Given the description of an element on the screen output the (x, y) to click on. 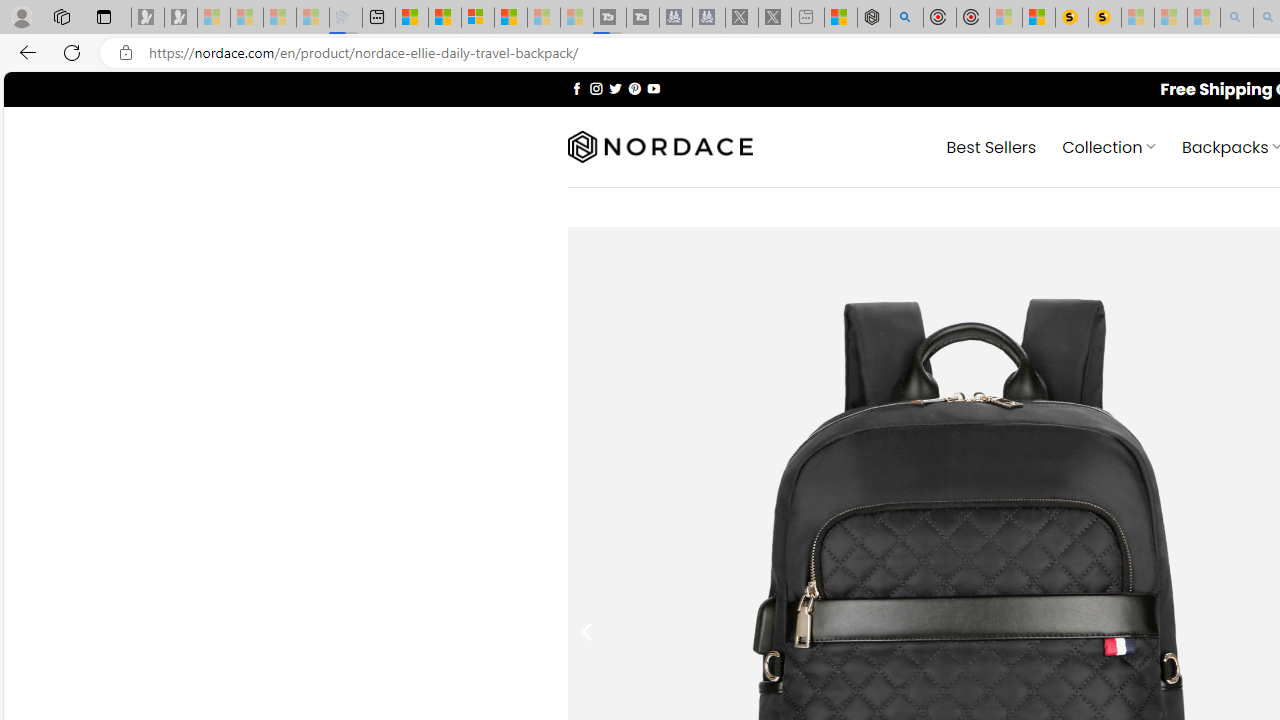
Follow on Instagram (596, 88)
Overview (478, 17)
Follow on Twitter (615, 88)
poe - Search (906, 17)
Follow on Facebook (576, 88)
